Given the description of an element on the screen output the (x, y) to click on. 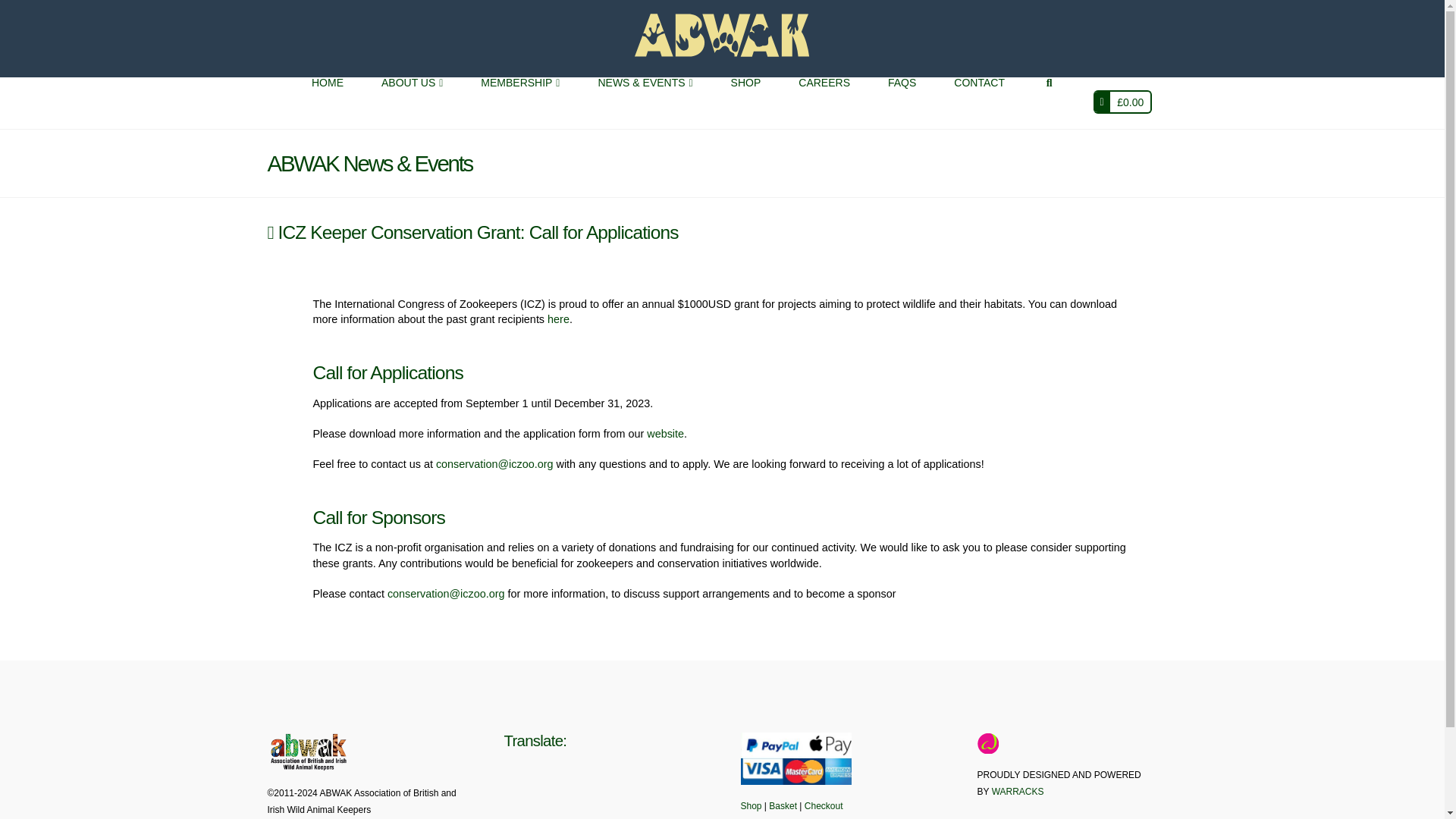
CAREERS (823, 102)
CONTACT (978, 102)
MEMBERSHIP (519, 102)
FAQS (901, 102)
ABOUT US (411, 102)
HOME (327, 102)
SHOP (745, 102)
